Given the description of an element on the screen output the (x, y) to click on. 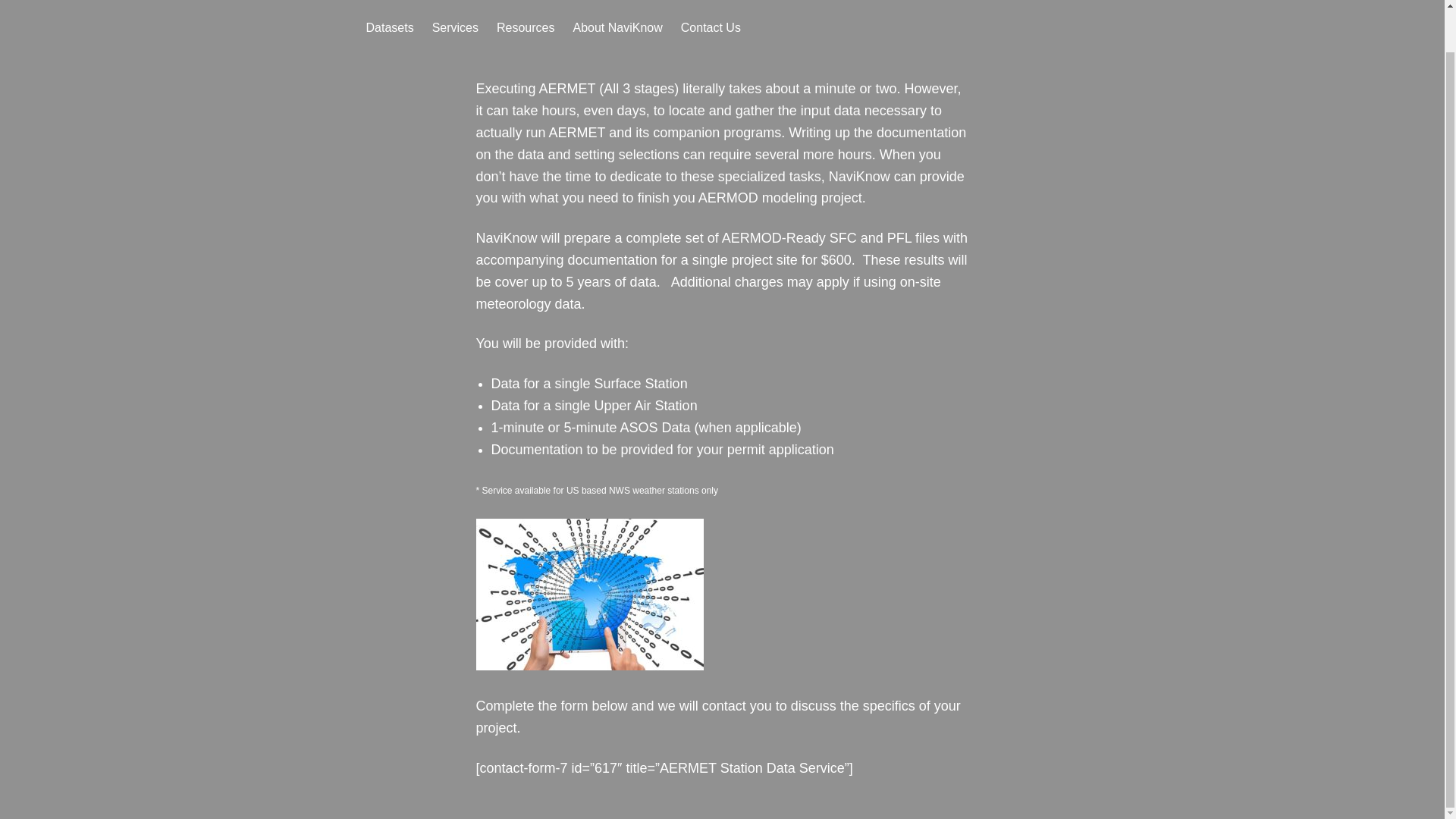
Resources (525, 27)
Datasets (389, 27)
Contact Us (711, 27)
Services (455, 27)
About NaviKnow (617, 27)
